Given the description of an element on the screen output the (x, y) to click on. 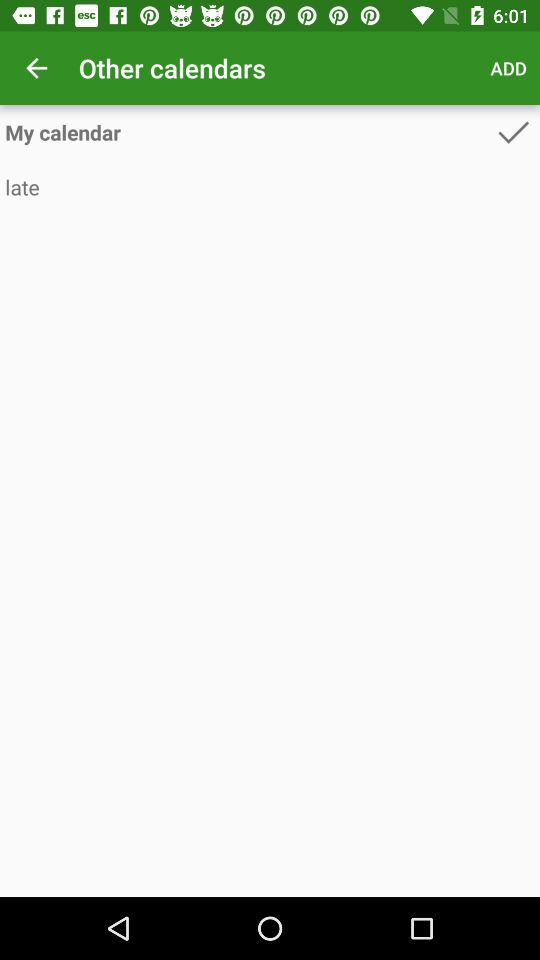
tap late (269, 186)
